Given the description of an element on the screen output the (x, y) to click on. 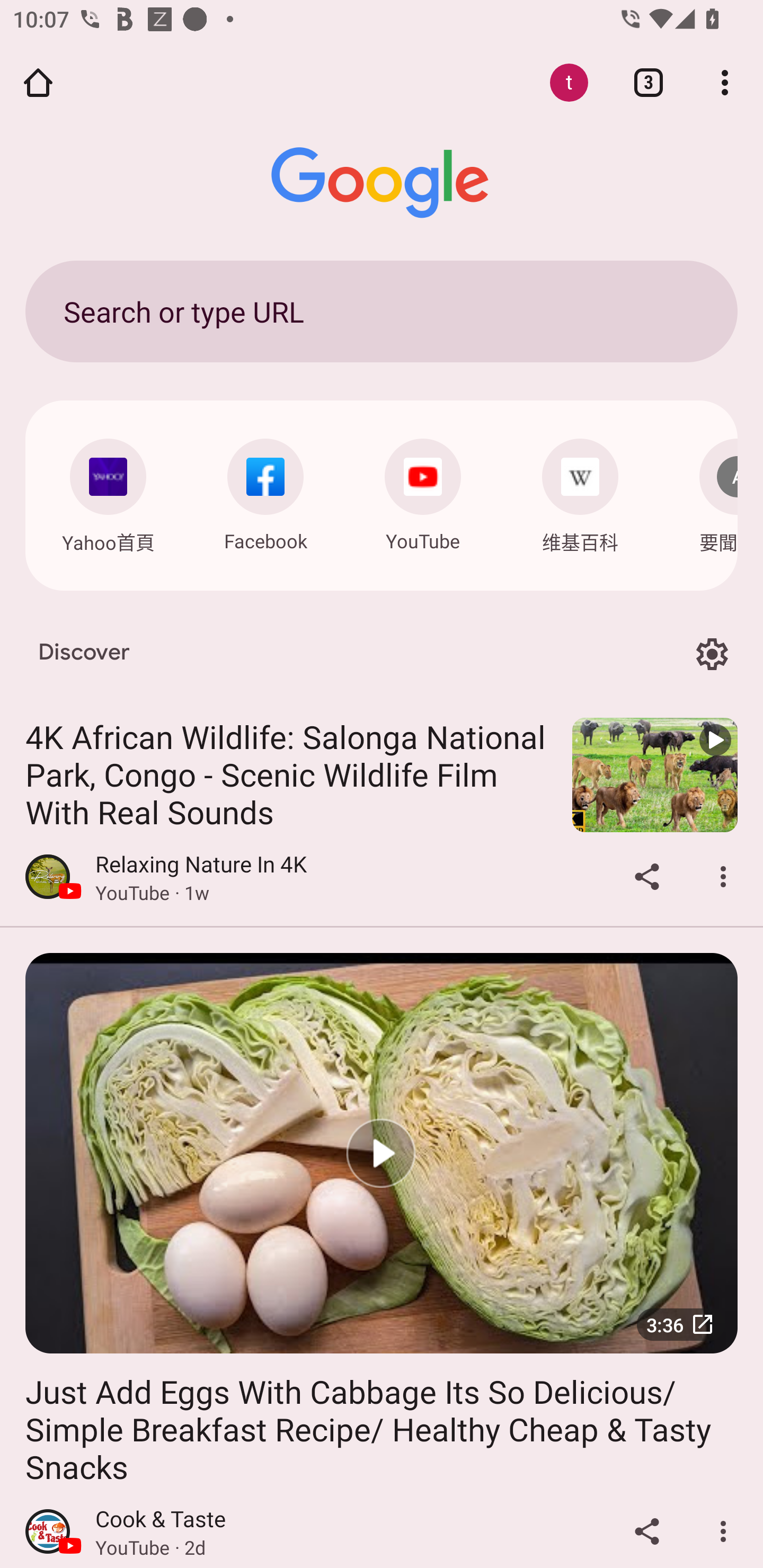
Open the home page (38, 82)
Switch or close tabs (648, 82)
Customize and control Google Chrome (724, 82)
Search or type URL (381, 311)
Navigate: Yahoo首頁: hk.mobi.yahoo.com Yahoo首頁 (107, 491)
Navigate: Facebook: m.facebook.com Facebook (265, 490)
Navigate: YouTube: m.youtube.com YouTube (422, 490)
Navigate: 维基百科: zh.m.wikipedia.org 维基百科 (579, 491)
Options for Discover (711, 654)
